Given the description of an element on the screen output the (x, y) to click on. 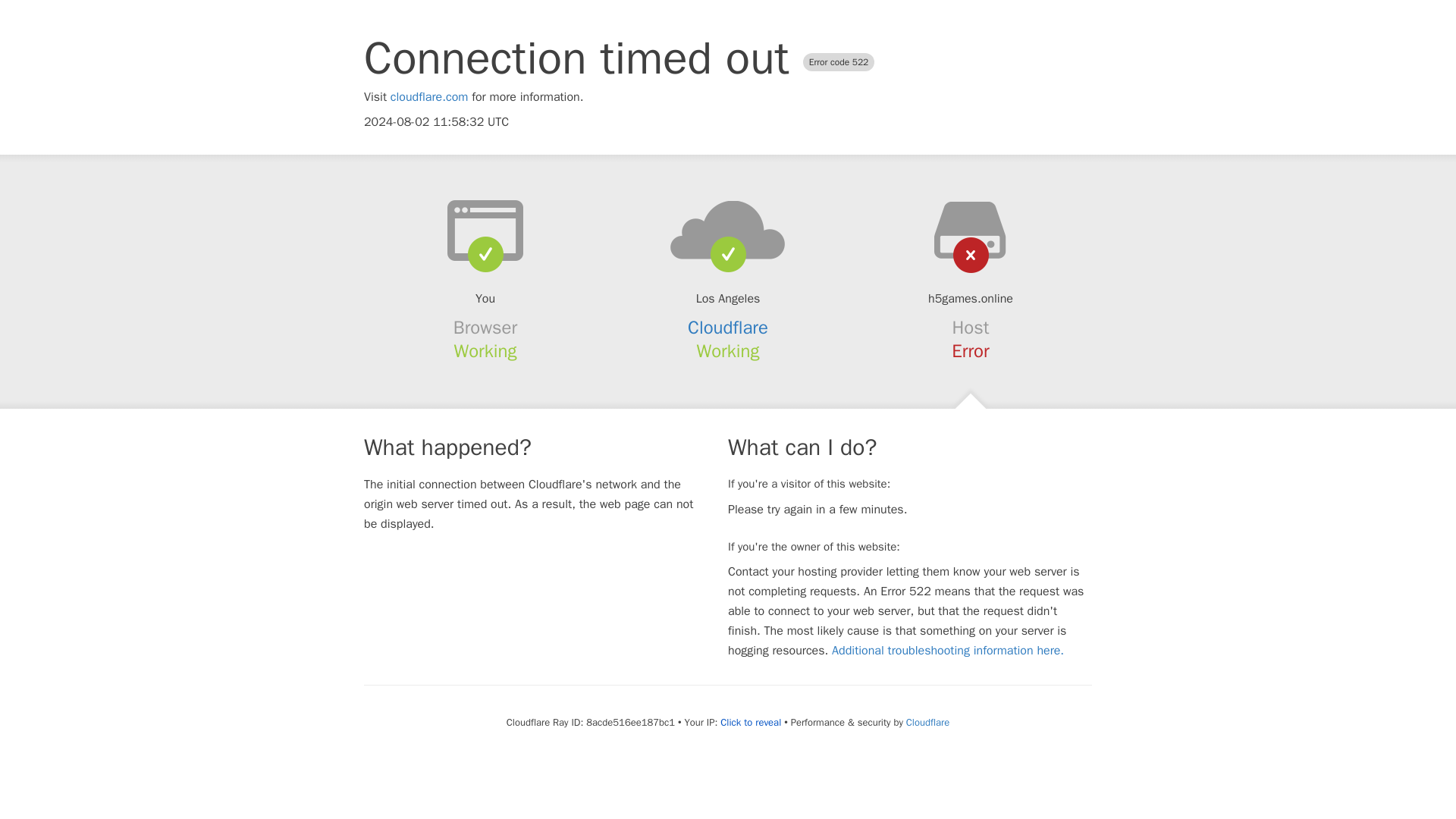
Click to reveal (750, 722)
cloudflare.com (429, 96)
Additional troubleshooting information here. (947, 650)
Cloudflare (927, 721)
Cloudflare (727, 327)
